Given the description of an element on the screen output the (x, y) to click on. 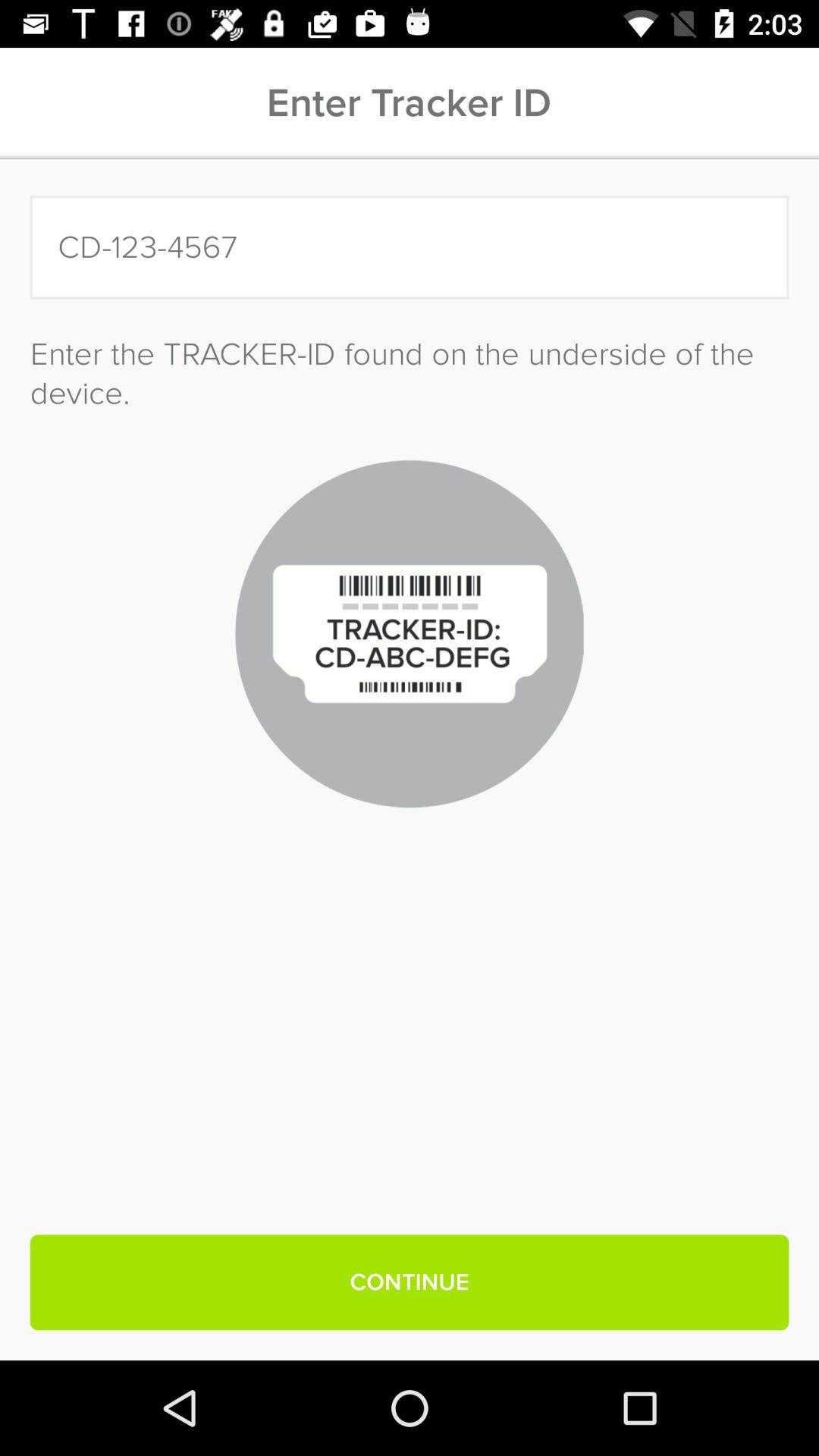
scroll until continue icon (409, 1282)
